Given the description of an element on the screen output the (x, y) to click on. 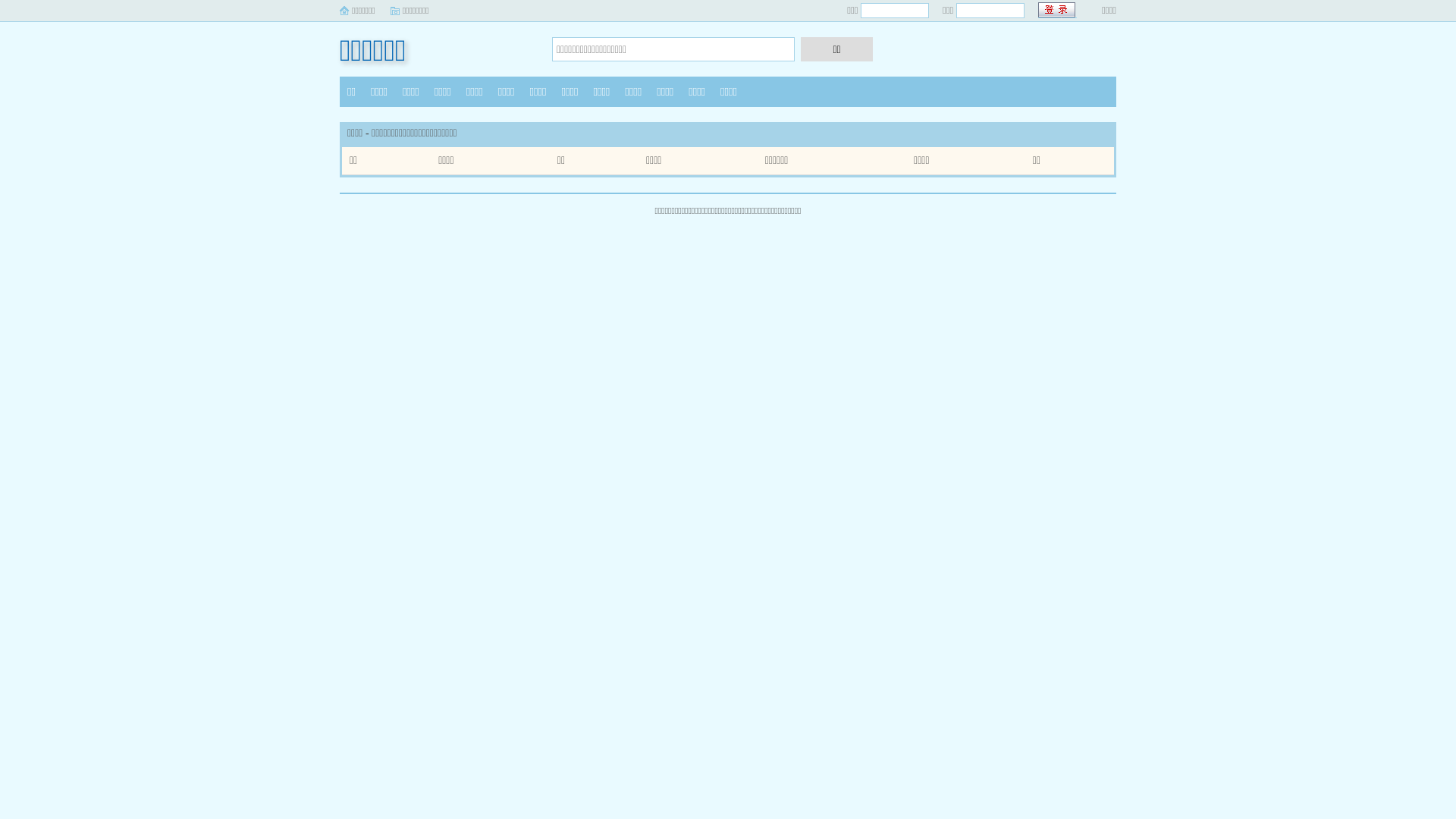
  Element type: text (1057, 10)
